Given the description of an element on the screen output the (x, y) to click on. 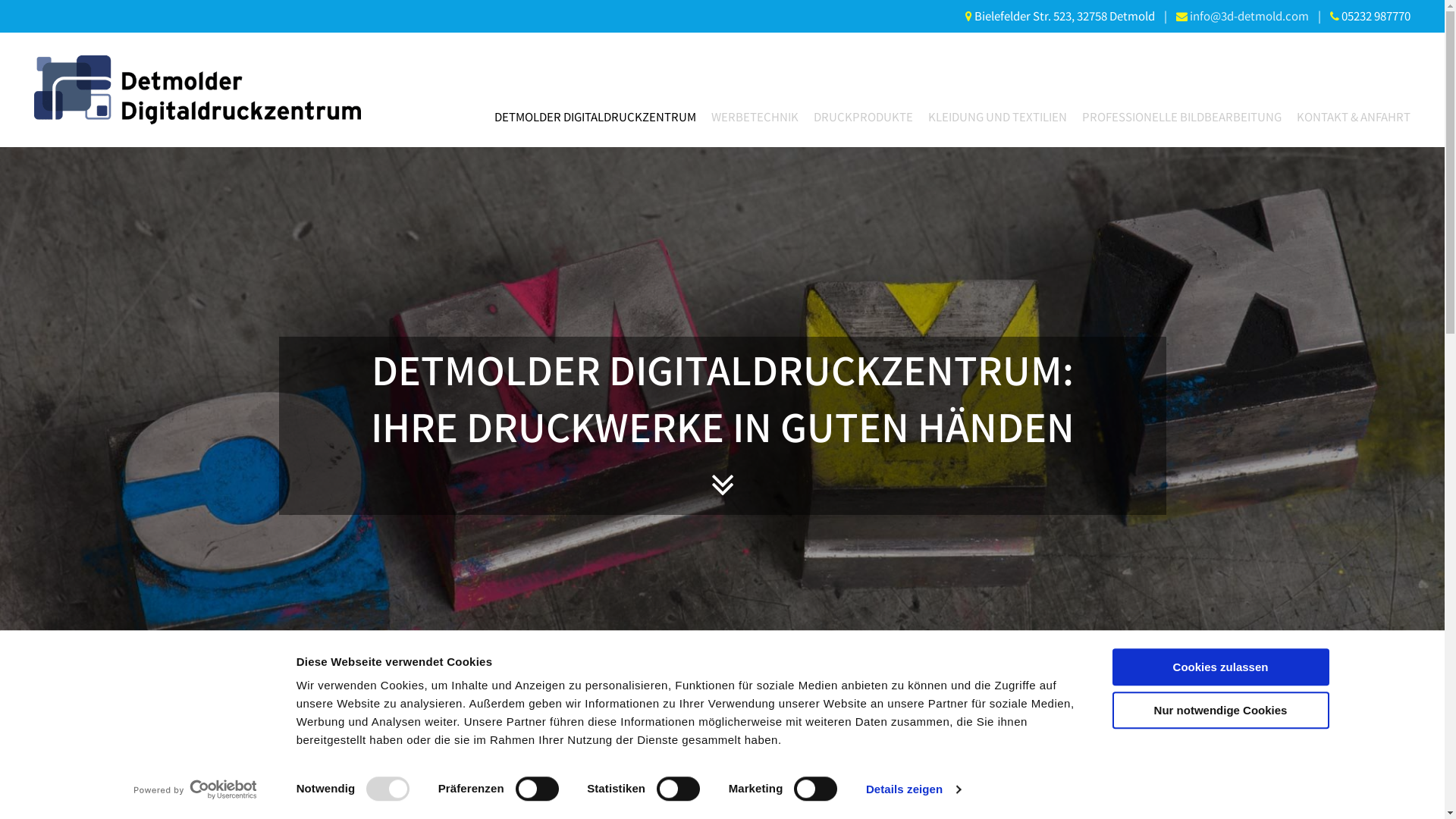
DETMOLDER DIGITALDRUCKZENTRUM Element type: text (587, 116)
Nur notwendige Cookies Element type: text (1219, 709)
DRUCKPRODUKTE Element type: text (855, 116)
WERBETECHNIK Element type: text (747, 116)
KLEIDUNG UND TEXTILIEN Element type: text (989, 116)
Details zeigen Element type: text (913, 789)
Cookies zulassen Element type: text (1219, 666)
KONTAKT & ANFAHRT Element type: text (1345, 116)
info@3d-detmold.com Element type: text (1248, 15)
PROFESSIONELLE BILDBEARBEITUNG Element type: text (1173, 116)
